Given the description of an element on the screen output the (x, y) to click on. 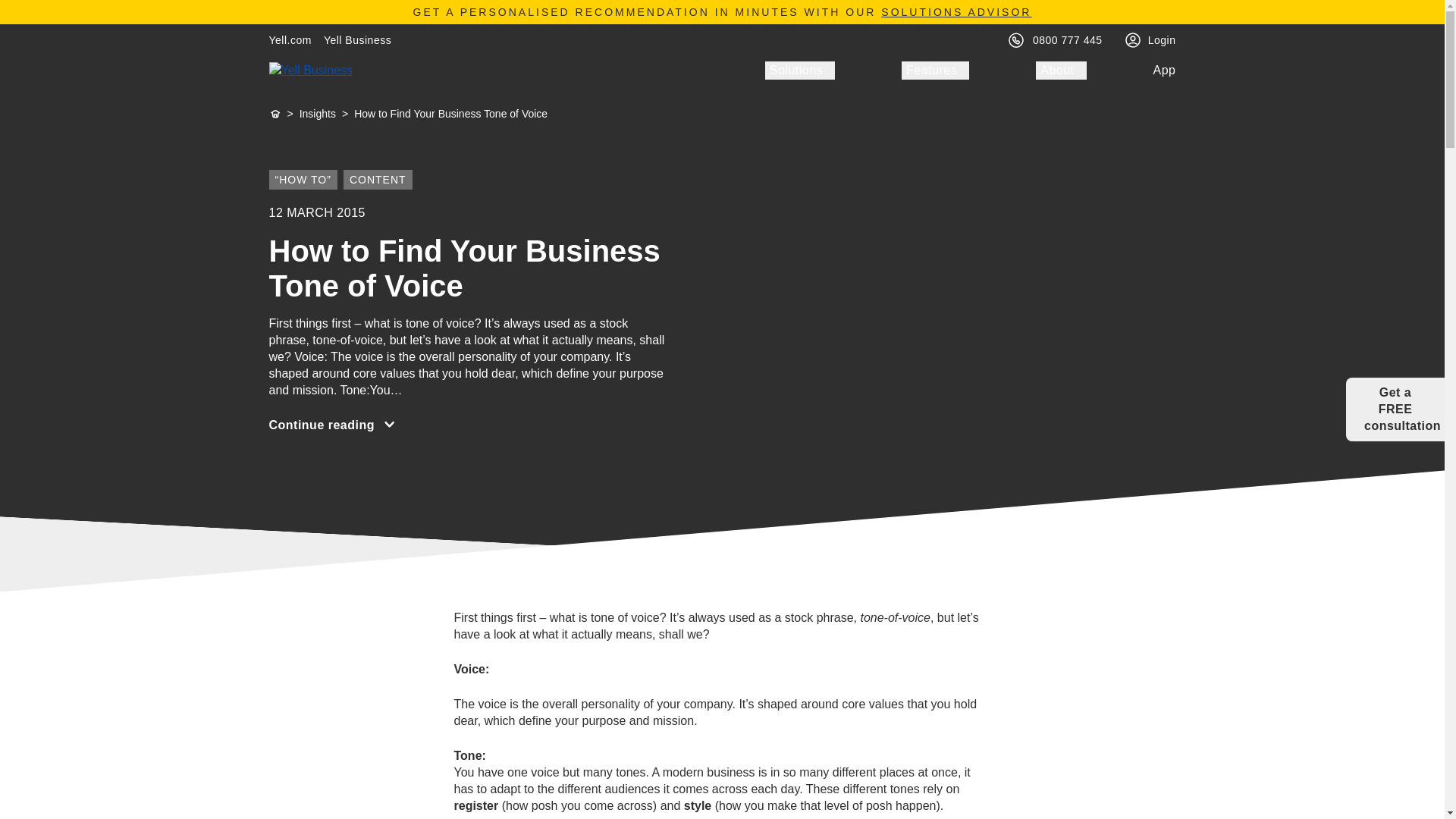
Yell.com (289, 39)
SOLUTIONS ADVISOR (955, 11)
Solutions (799, 70)
Features (935, 70)
Yell Business (357, 39)
Login (1162, 39)
0800 777 445 (1067, 39)
About (1060, 70)
